Given the description of an element on the screen output the (x, y) to click on. 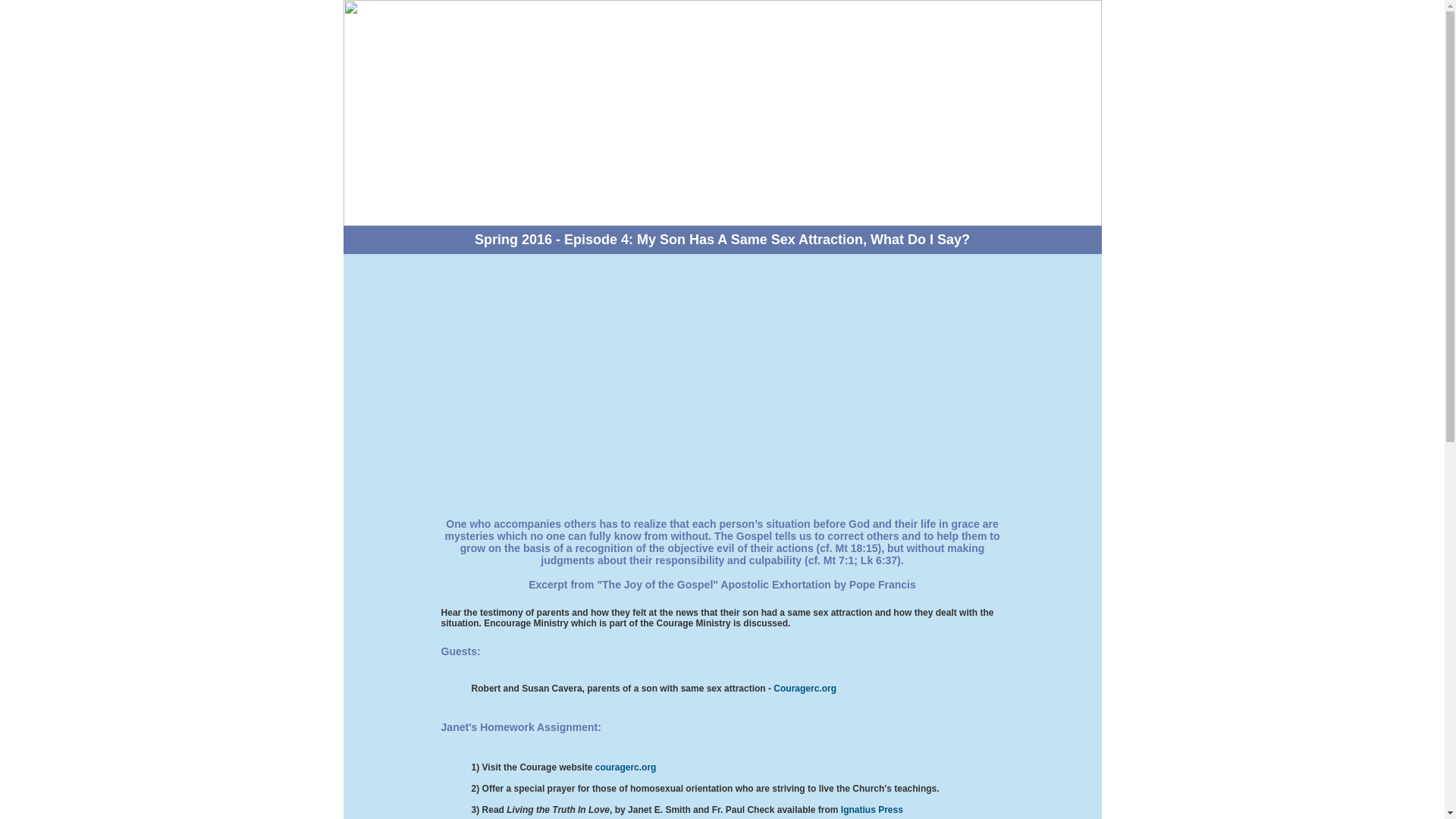
couragerc.org (625, 767)
Ignatius Press (870, 809)
Couragerc.org (804, 688)
